Given the description of an element on the screen output the (x, y) to click on. 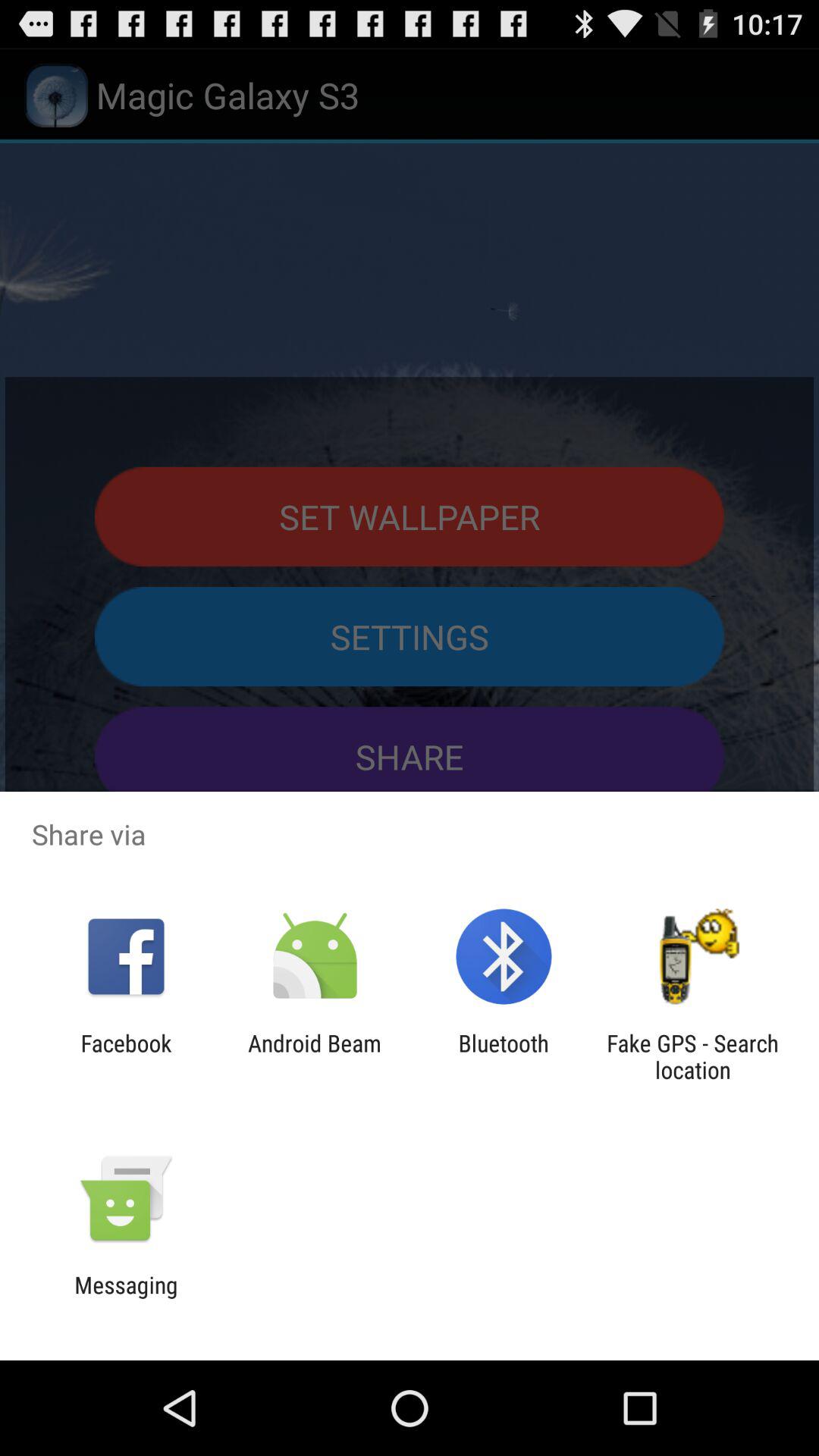
launch app next to the bluetooth app (692, 1056)
